Given the description of an element on the screen output the (x, y) to click on. 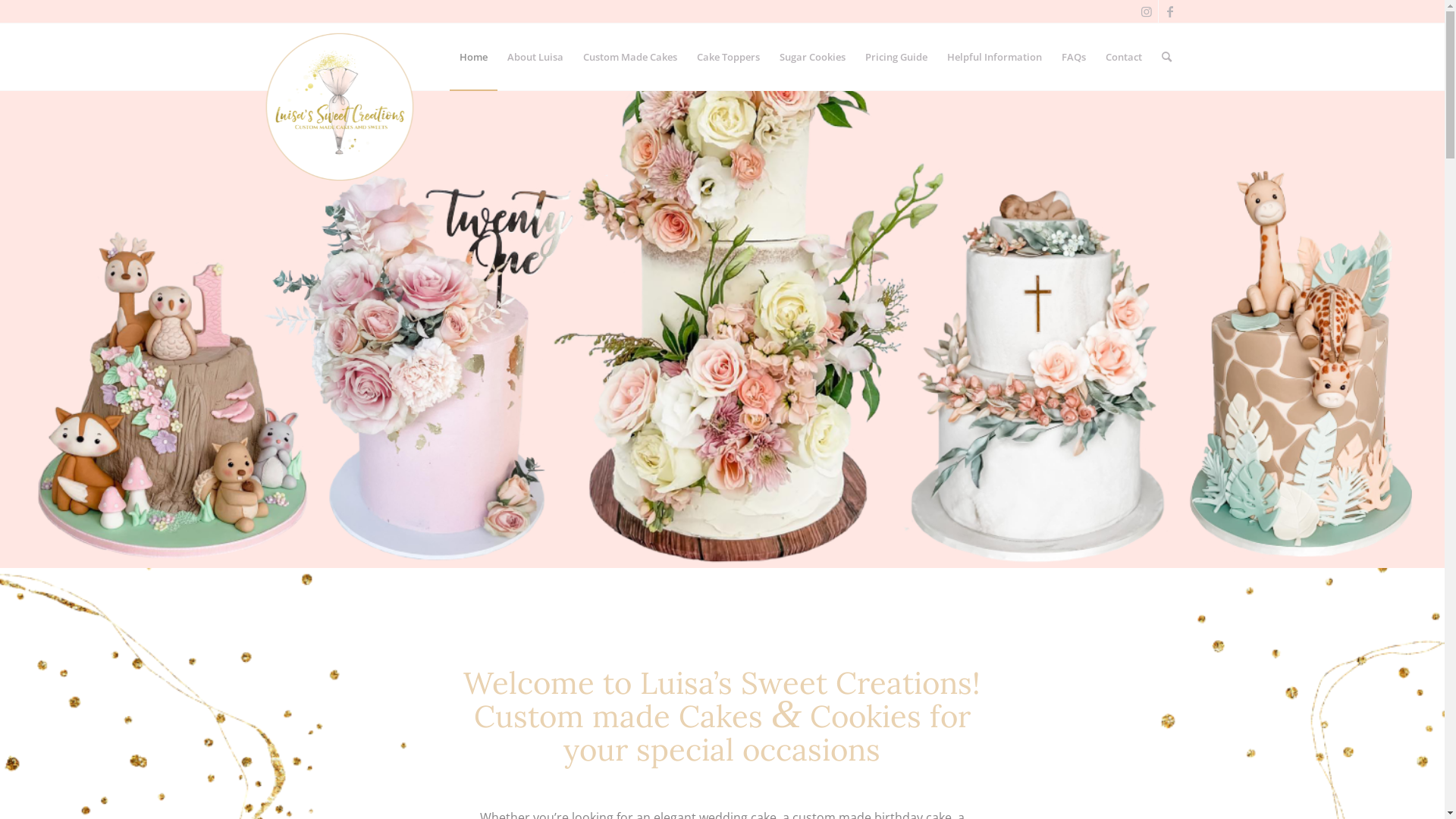
Custom Made Cakes Element type: text (630, 56)
Sugar Cookies Element type: text (811, 56)
Helpful Information Element type: text (994, 56)
Home Element type: text (472, 56)
Instagram Element type: hover (1146, 11)
Contact Element type: text (1123, 56)
Cake Toppers Element type: text (728, 56)
FAQs Element type: text (1073, 56)
Pricing Guide Element type: text (896, 56)
About Luisa Element type: text (535, 56)
Facebook Element type: hover (1169, 11)
